Given the description of an element on the screen output the (x, y) to click on. 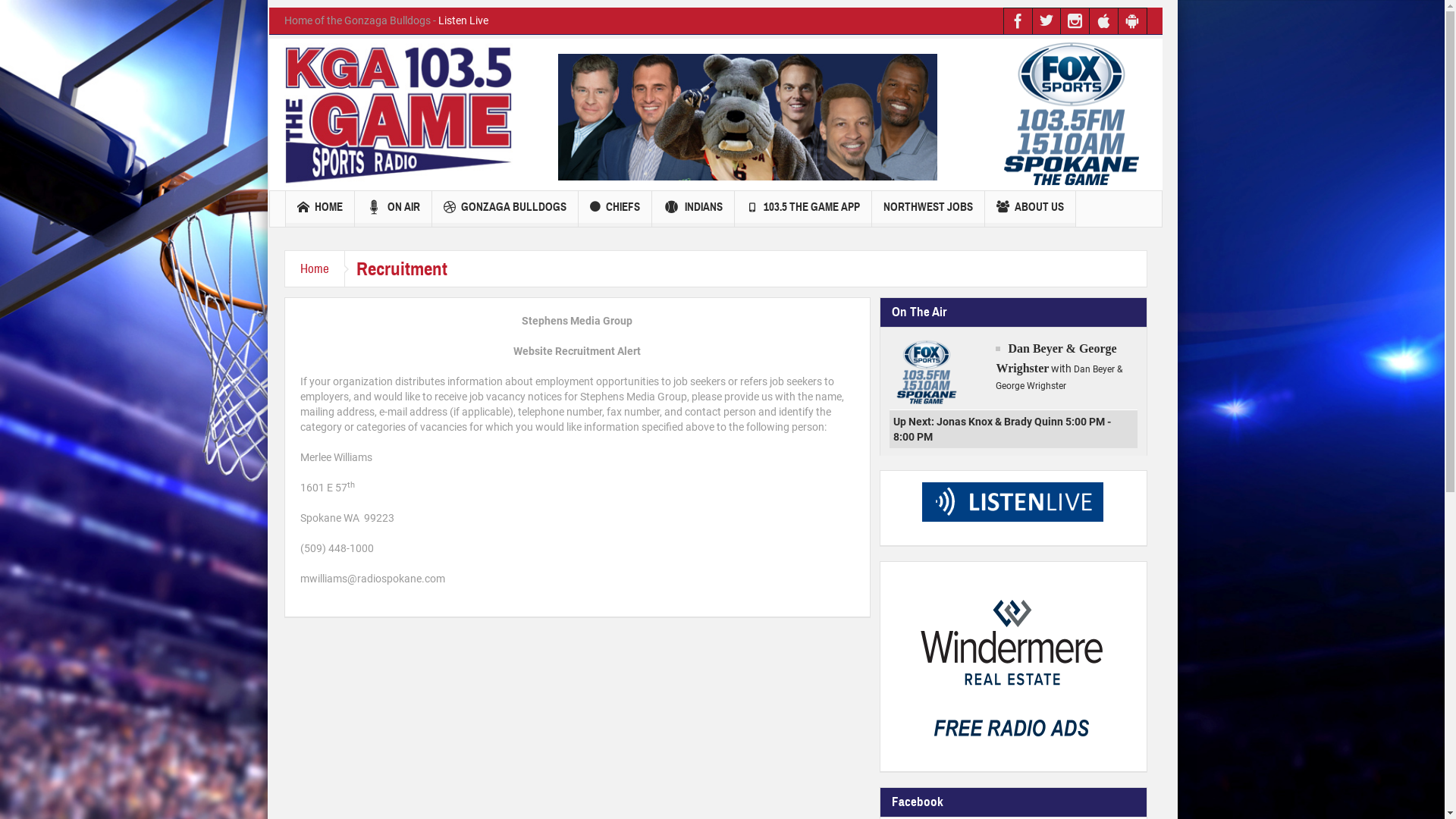
NORTHWEST JOBS Element type: text (928, 208)
CHIEFS Element type: text (613, 208)
Listen Live Element type: text (463, 20)
Dan Beyer & George Wrighster Element type: hover (926, 371)
ABOUT US Element type: text (1029, 208)
Dan Beyer & George Wrighster Element type: text (1055, 358)
INDIANS Element type: text (693, 208)
ON AIR Element type: text (392, 208)
Home Element type: text (315, 268)
HOME Element type: text (319, 208)
103.5 The Game Element type: hover (397, 114)
103.5 THE GAME APP Element type: text (802, 208)
GONZAGA BULLDOGS Element type: text (504, 208)
